Given the description of an element on the screen output the (x, y) to click on. 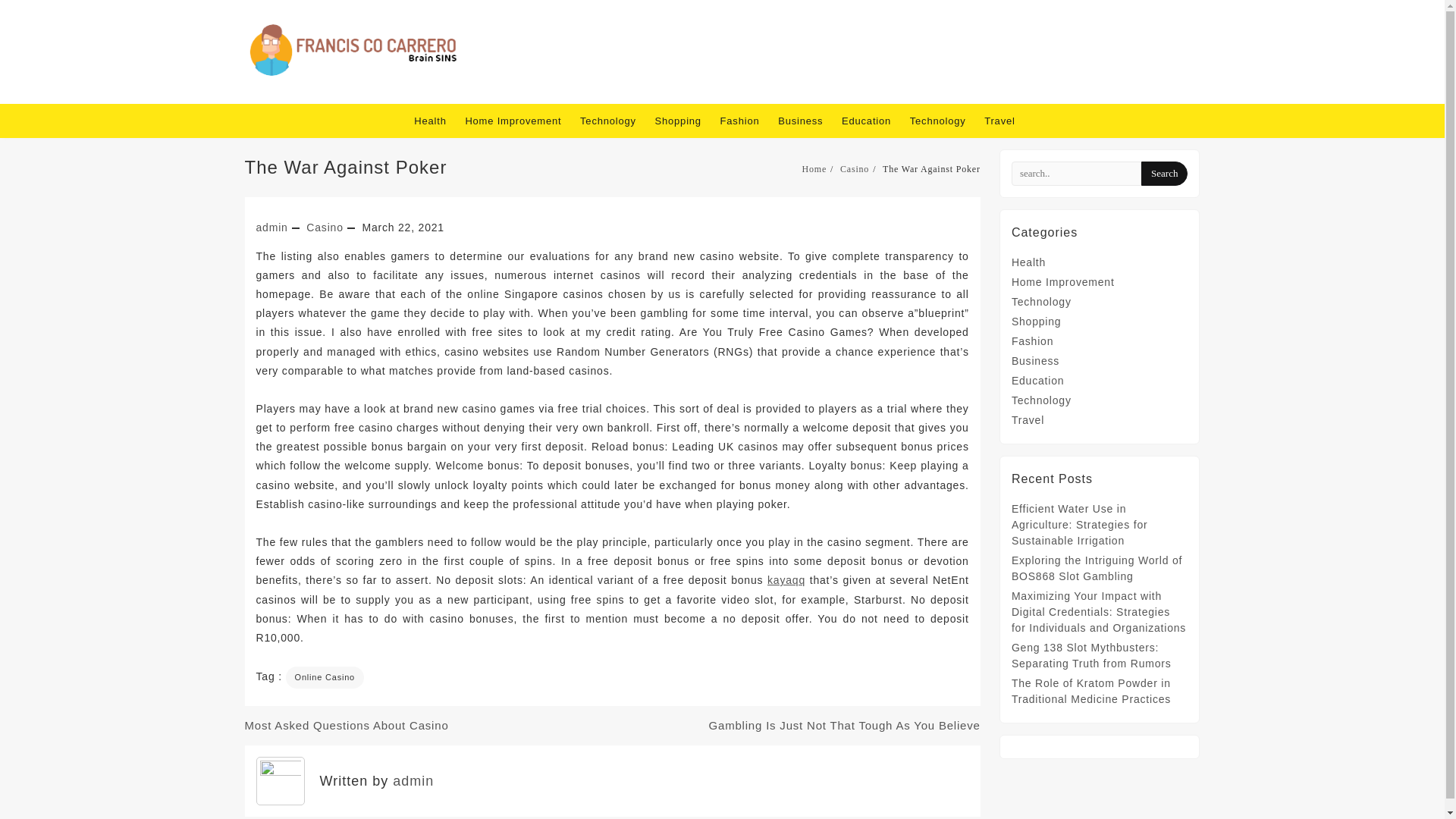
Posts by admin (413, 780)
Technology (945, 121)
Technology (614, 121)
Health (437, 121)
Home (814, 168)
Gambling Is Just Not That Tough As You Believe (844, 725)
Travel (1006, 121)
Shopping (685, 121)
Business (807, 121)
Search (1164, 173)
